Given the description of an element on the screen output the (x, y) to click on. 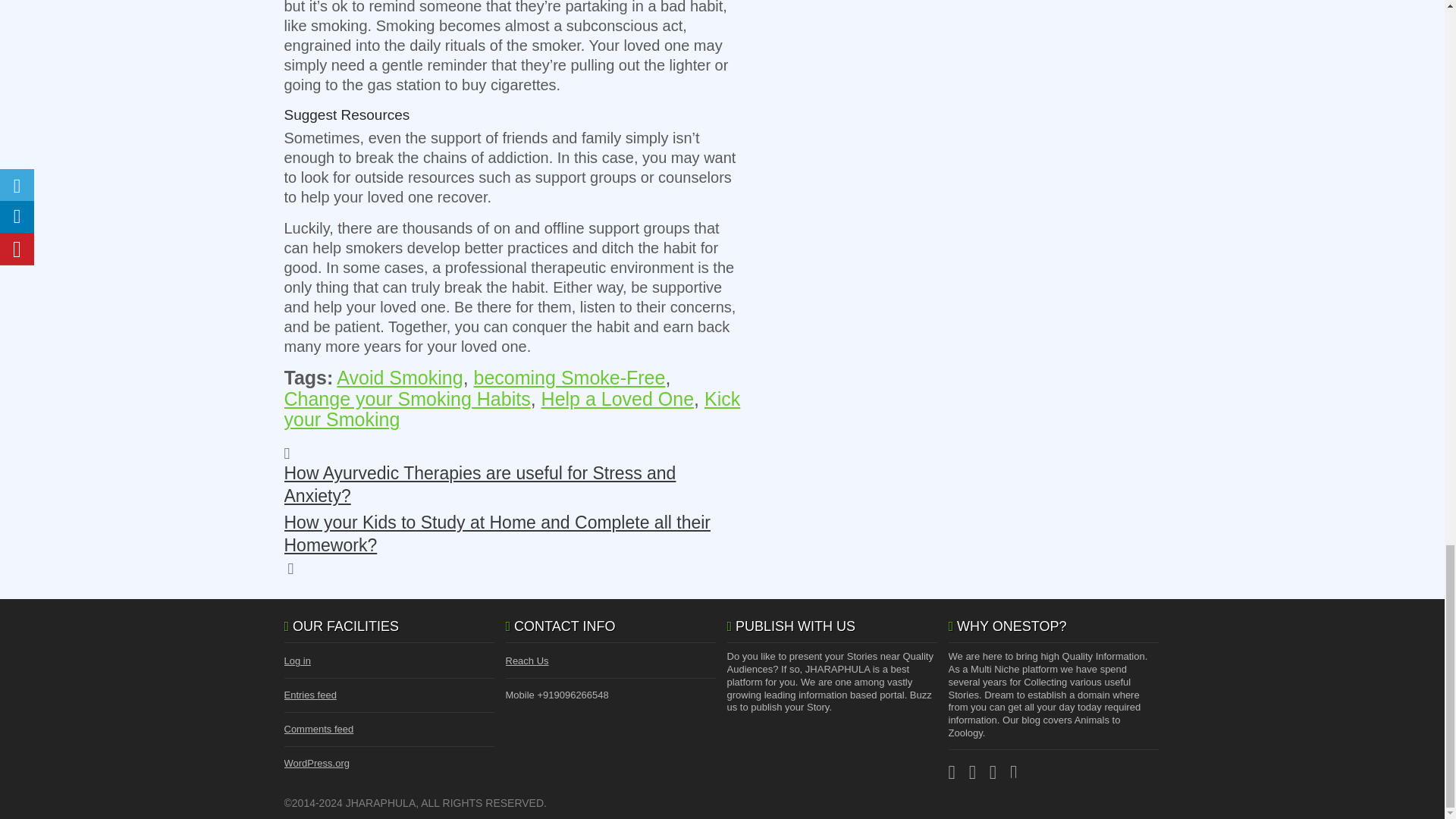
Change your Smoking Habits (406, 398)
becoming Smoke-Free (569, 377)
Avoid Smoking (399, 377)
